Given the description of an element on the screen output the (x, y) to click on. 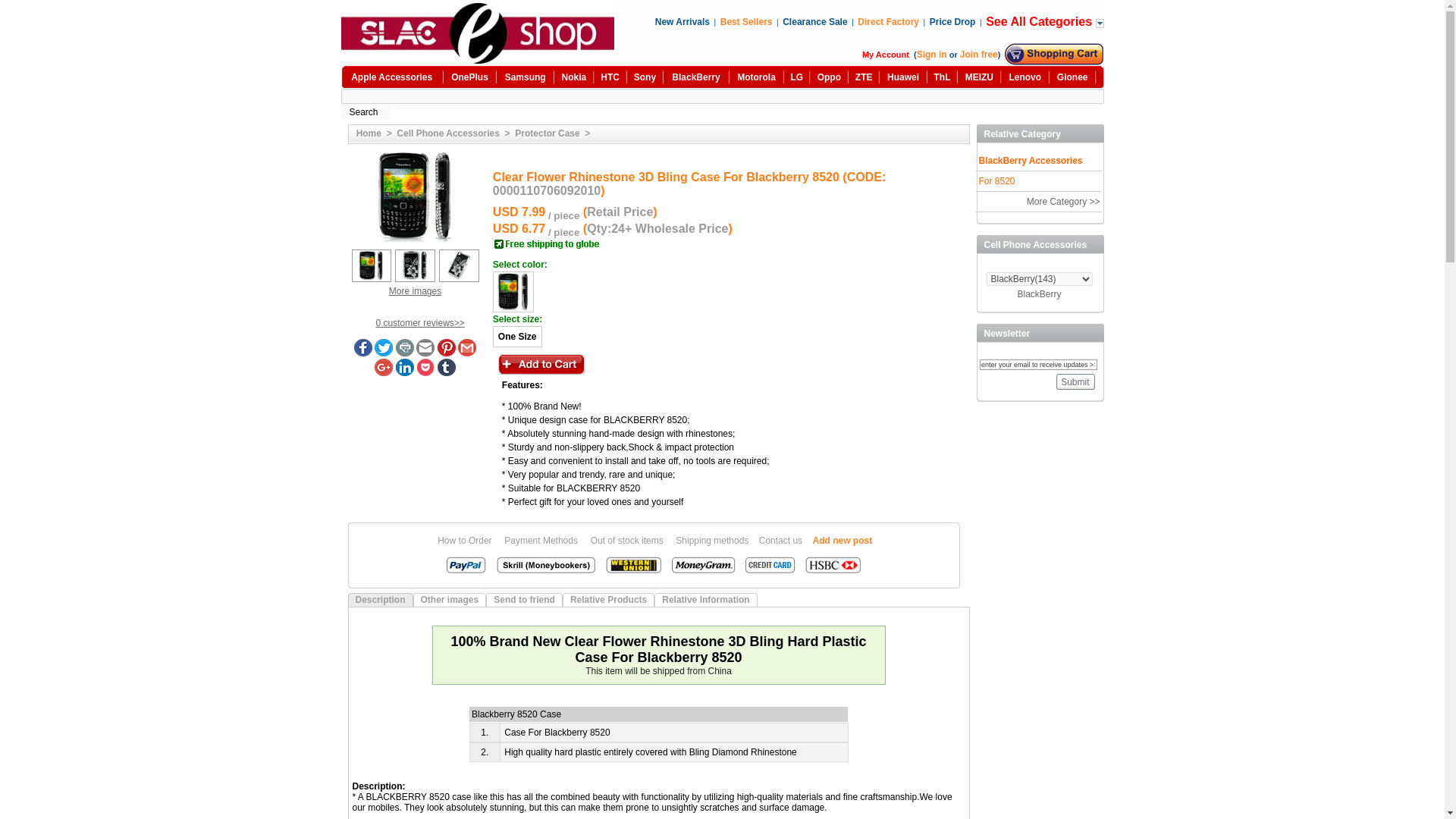
See All Categories  (1039, 21)
Search (365, 111)
Print (404, 353)
Send Email (424, 353)
Clearance Sale (815, 21)
OnePlus Phone Accessories (469, 77)
My Account (884, 53)
Gionee Phone Accessories (1072, 77)
Share on Facebook (362, 353)
Samsung Phone Accessories (525, 77)
Motorola Phone Accessories (756, 77)
MEIZU Phone Accessories (978, 77)
Apple Accessories (391, 77)
Direct Factory (887, 21)
Oppo Phone Accessories (828, 77)
